Given the description of an element on the screen output the (x, y) to click on. 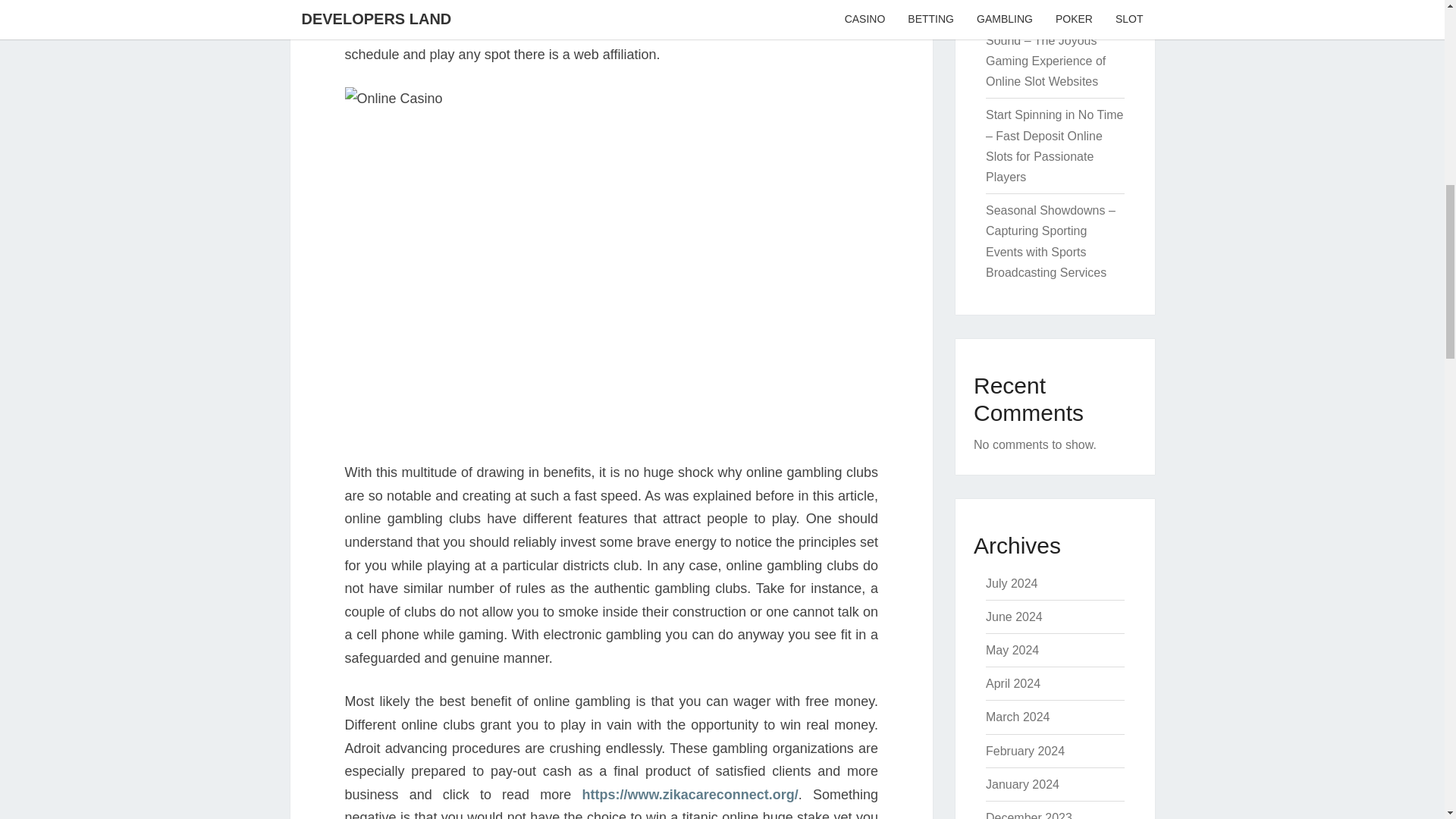
February 2024 (1024, 750)
January 2024 (1022, 784)
May 2024 (1012, 649)
April 2024 (1013, 683)
March 2024 (1017, 716)
July 2024 (1011, 583)
June 2024 (1013, 616)
December 2023 (1028, 815)
